Given the description of an element on the screen output the (x, y) to click on. 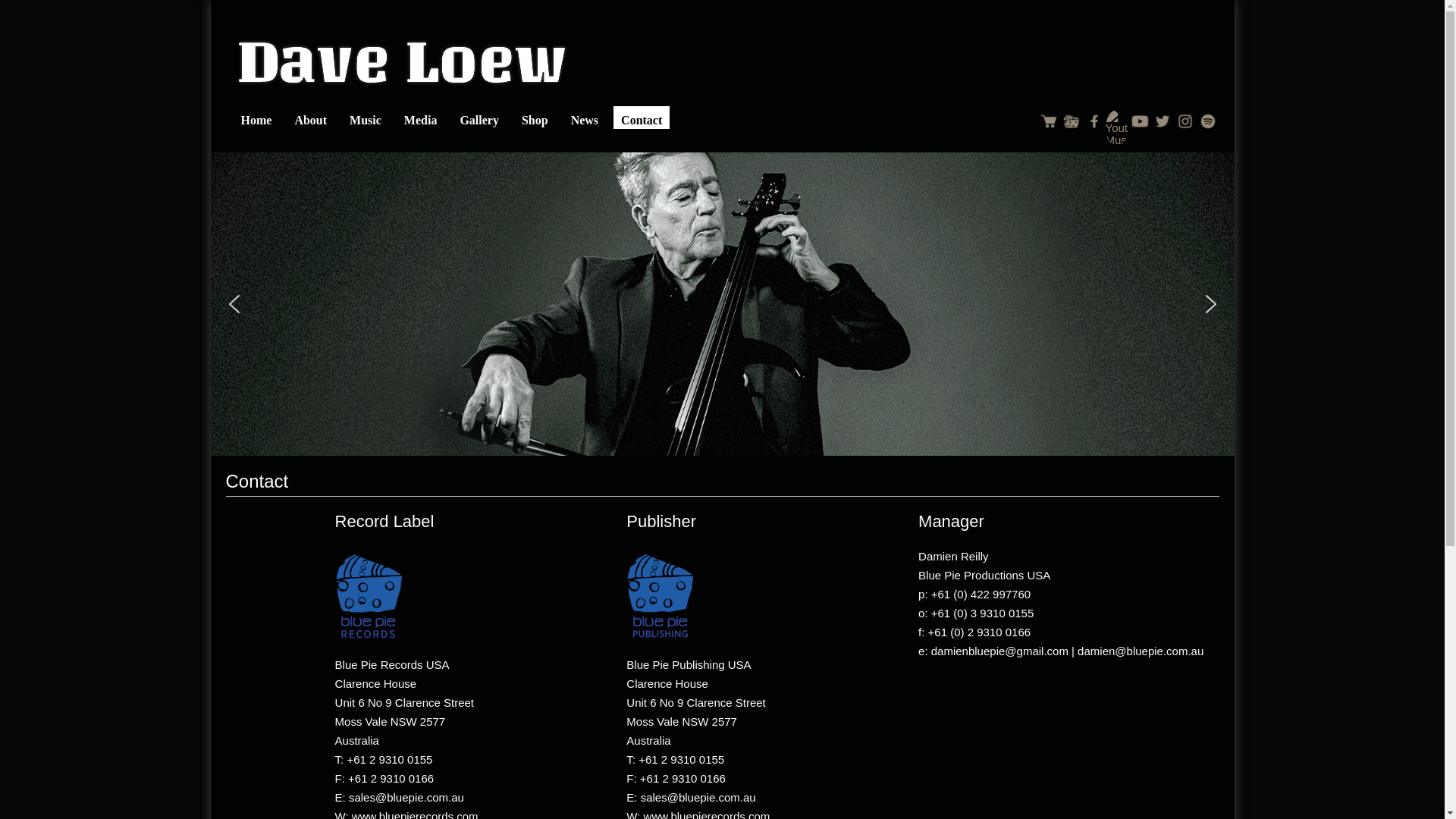
Instagram Element type: hover (1184, 120)
Blue Pie Element type: hover (1071, 120)
Spotify Element type: hover (1207, 120)
Cotton Cart Element type: hover (1048, 120)
Shop Element type: text (534, 117)
Media Element type: text (420, 117)
Home Element type: text (256, 117)
Twitter Element type: hover (1162, 120)
Dave Loew | The Official Website Element type: hover (401, 60)
Contact Element type: text (641, 117)
sales@bluepie.com.au Element type: text (406, 796)
sales@bluepie.com.au Element type: text (698, 796)
Youtube Music Element type: hover (1116, 127)
Music Element type: text (365, 117)
Youtube Music Element type: hover (1116, 120)
Youtube Element type: hover (1139, 120)
About Element type: text (310, 117)
News Element type: text (584, 117)
Facebook Element type: hover (1093, 120)
Gallery Element type: text (478, 117)
